Given the description of an element on the screen output the (x, y) to click on. 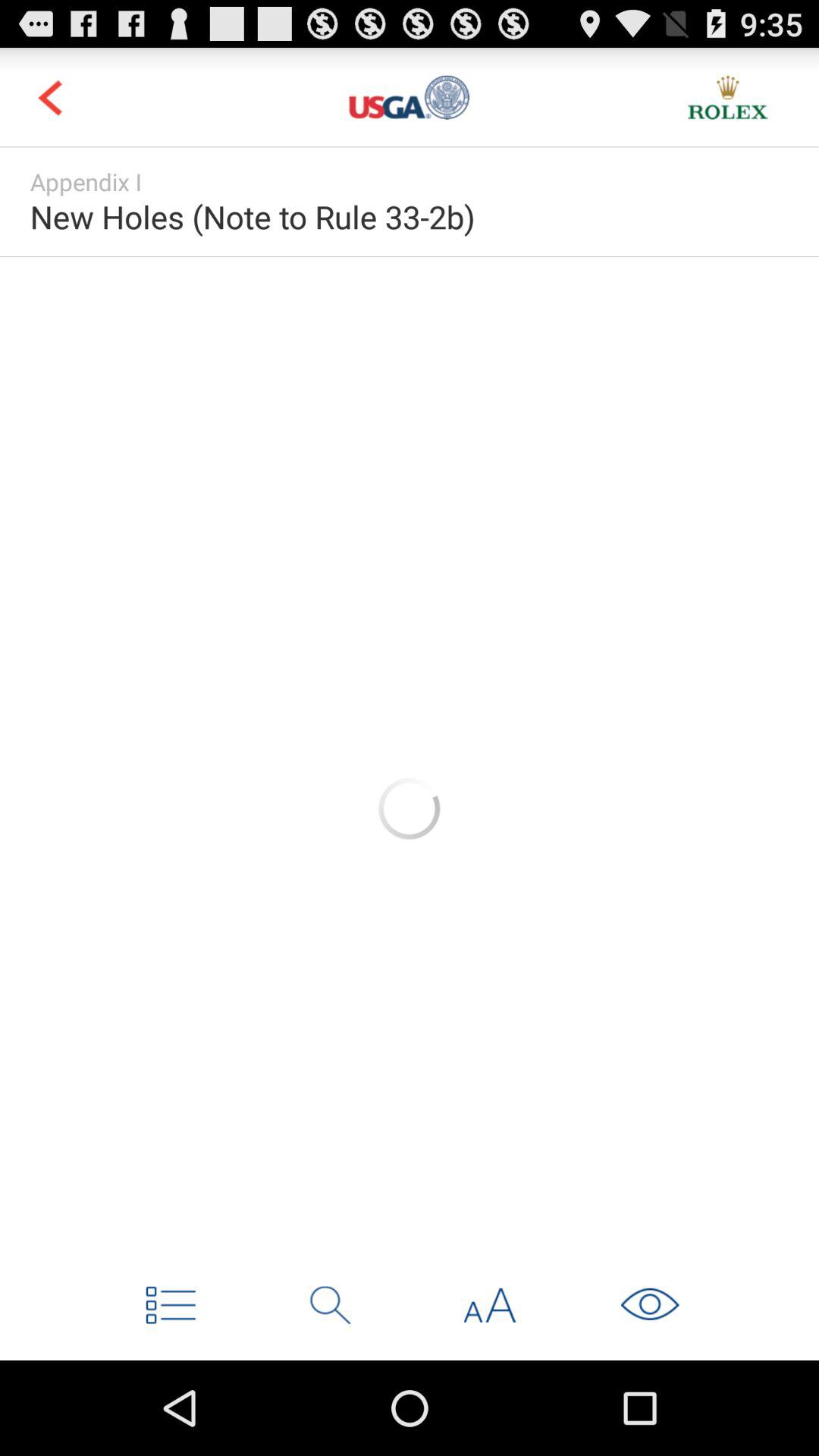
advertisement (409, 808)
